Given the description of an element on the screen output the (x, y) to click on. 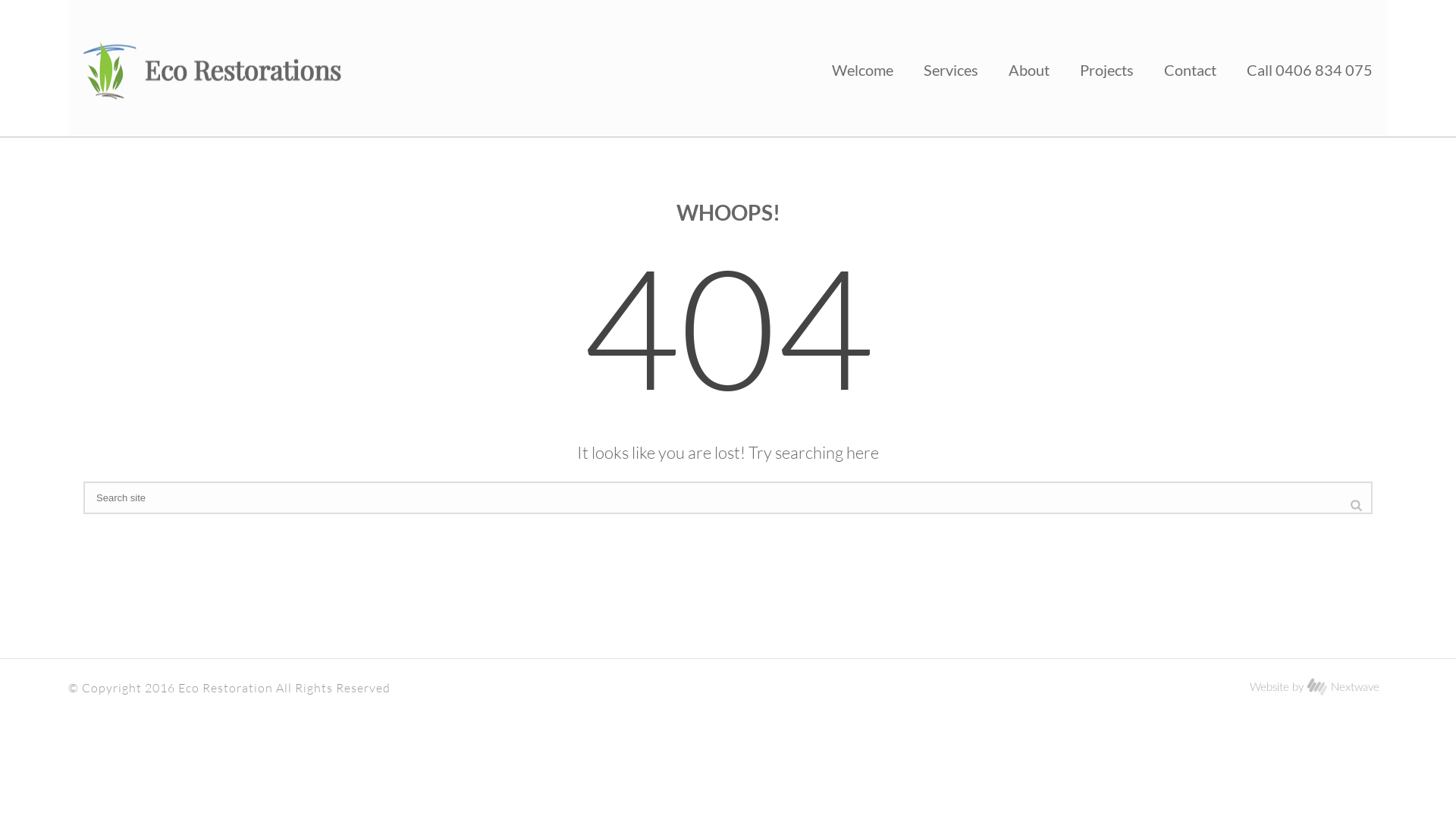
Projects Element type: text (1106, 68)
Welcome Element type: text (862, 68)
About Element type: text (1028, 68)
Call 0406 834 075 Element type: text (1309, 68)
Services Element type: text (950, 68)
Contact Element type: text (1189, 68)
